Given the description of an element on the screen output the (x, y) to click on. 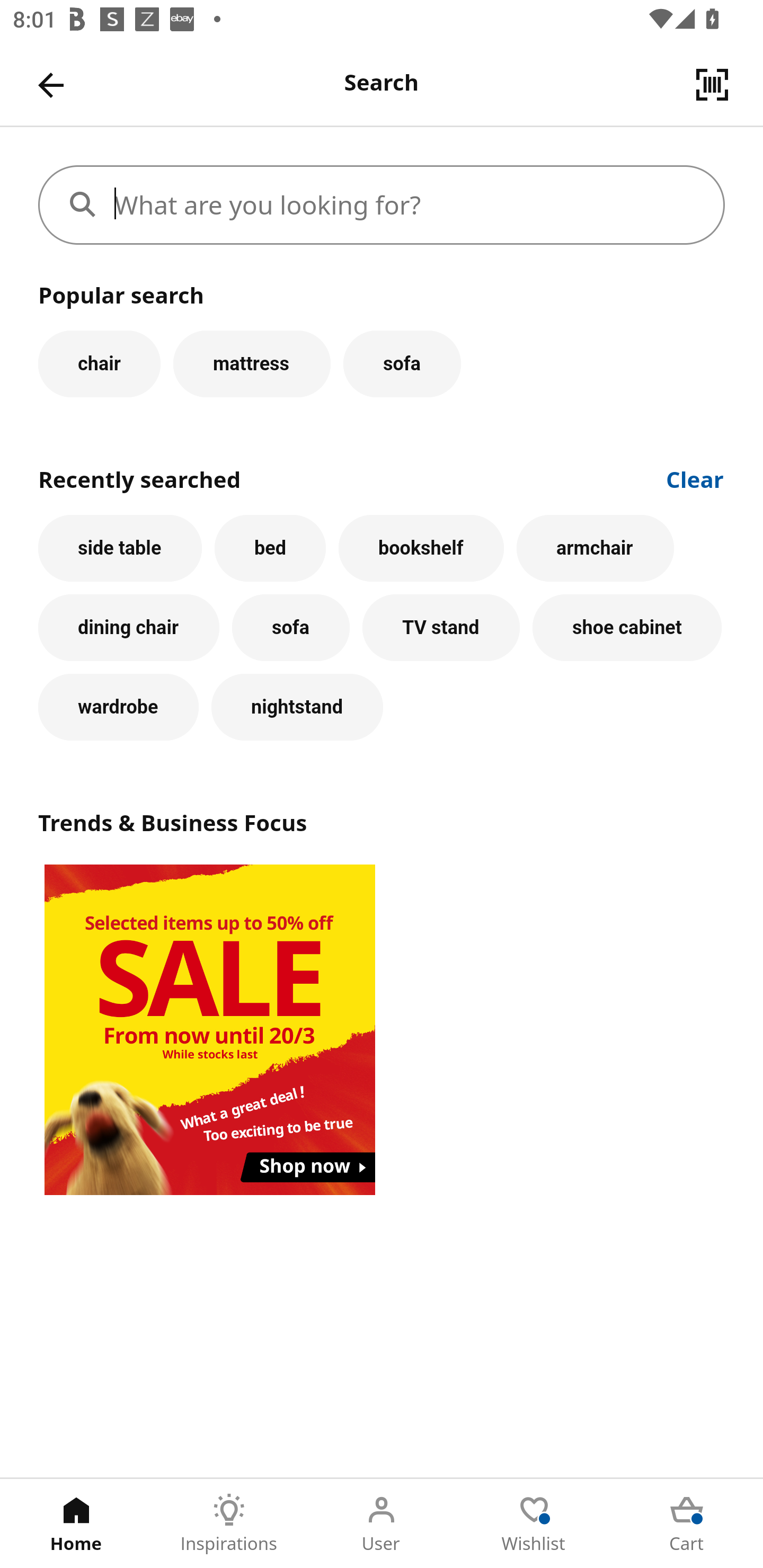
chair (99, 363)
mattress (251, 363)
sofa (401, 363)
Clear (695, 477)
side table (120, 547)
bed (269, 547)
bookshelf (420, 547)
armchair (594, 547)
dining chair (128, 627)
sofa (290, 627)
TV stand (440, 627)
shoe cabinet (626, 627)
wardrobe (118, 707)
nightstand (297, 707)
Home
Tab 1 of 5 (76, 1522)
Inspirations
Tab 2 of 5 (228, 1522)
User
Tab 3 of 5 (381, 1522)
Wishlist
Tab 4 of 5 (533, 1522)
Cart
Tab 5 of 5 (686, 1522)
